Given the description of an element on the screen output the (x, y) to click on. 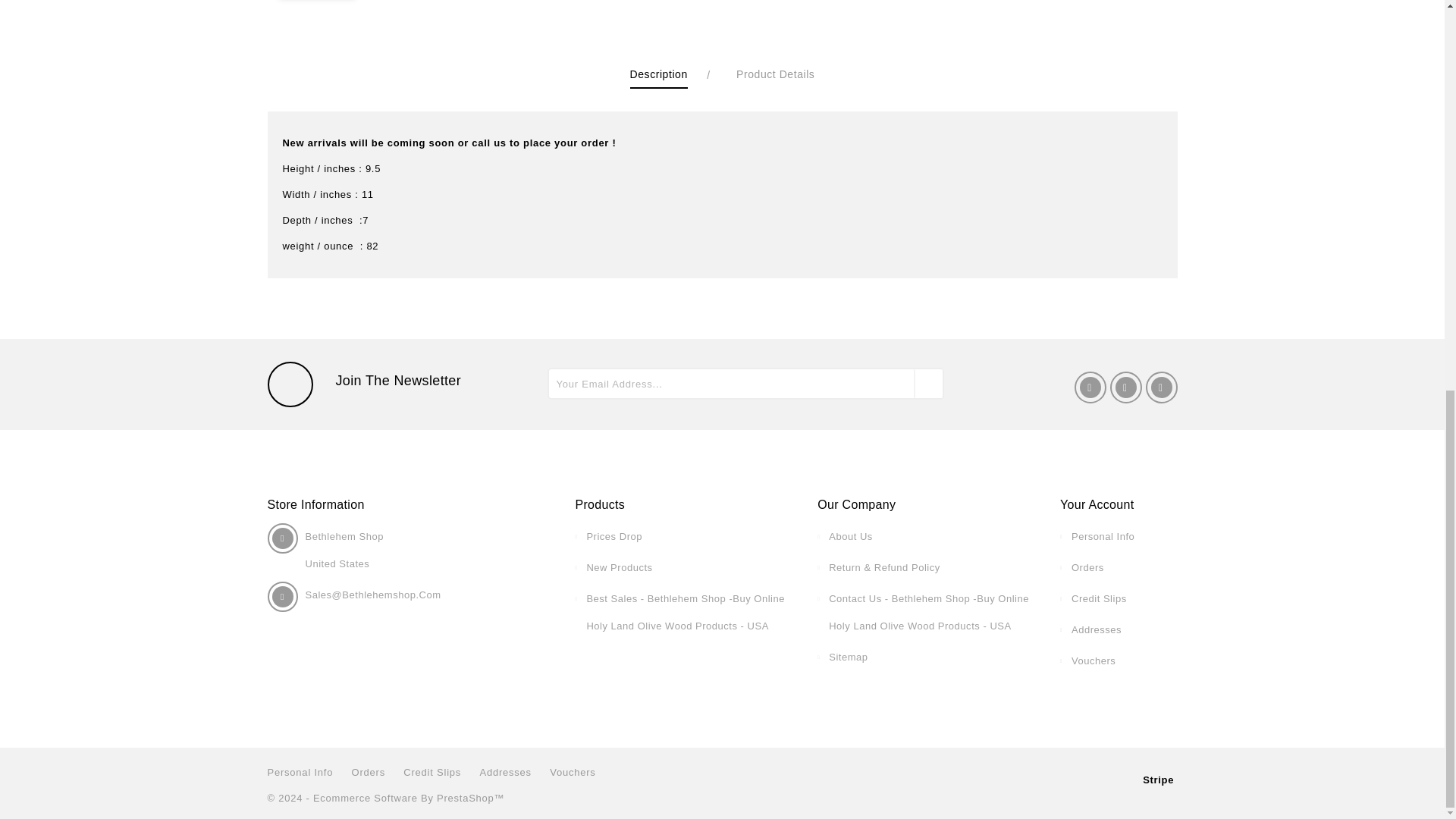
Our terms and conditions of delivery (884, 567)
Personal info (1102, 536)
Bethlehem Shop best sales (685, 611)
Our special products (614, 536)
Lost ? Find what your are looking for (847, 656)
Orders (1087, 567)
Our new products (619, 567)
Credit slips (1098, 598)
Use our form to contact us (928, 611)
Learn more about us (850, 536)
